Given the description of an element on the screen output the (x, y) to click on. 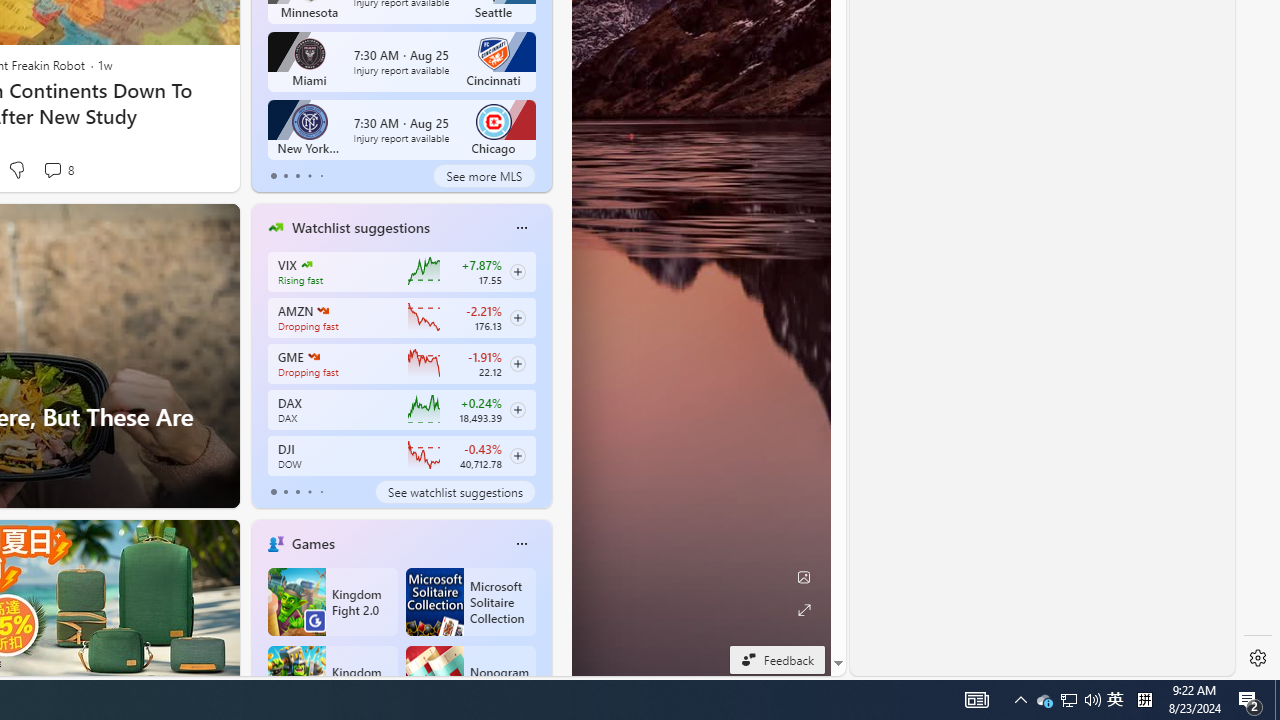
CBOE Market Volatility Index (306, 264)
Nonogram FRVR (470, 679)
tab-0 (273, 491)
Watchlist suggestions (360, 227)
